Given the description of an element on the screen output the (x, y) to click on. 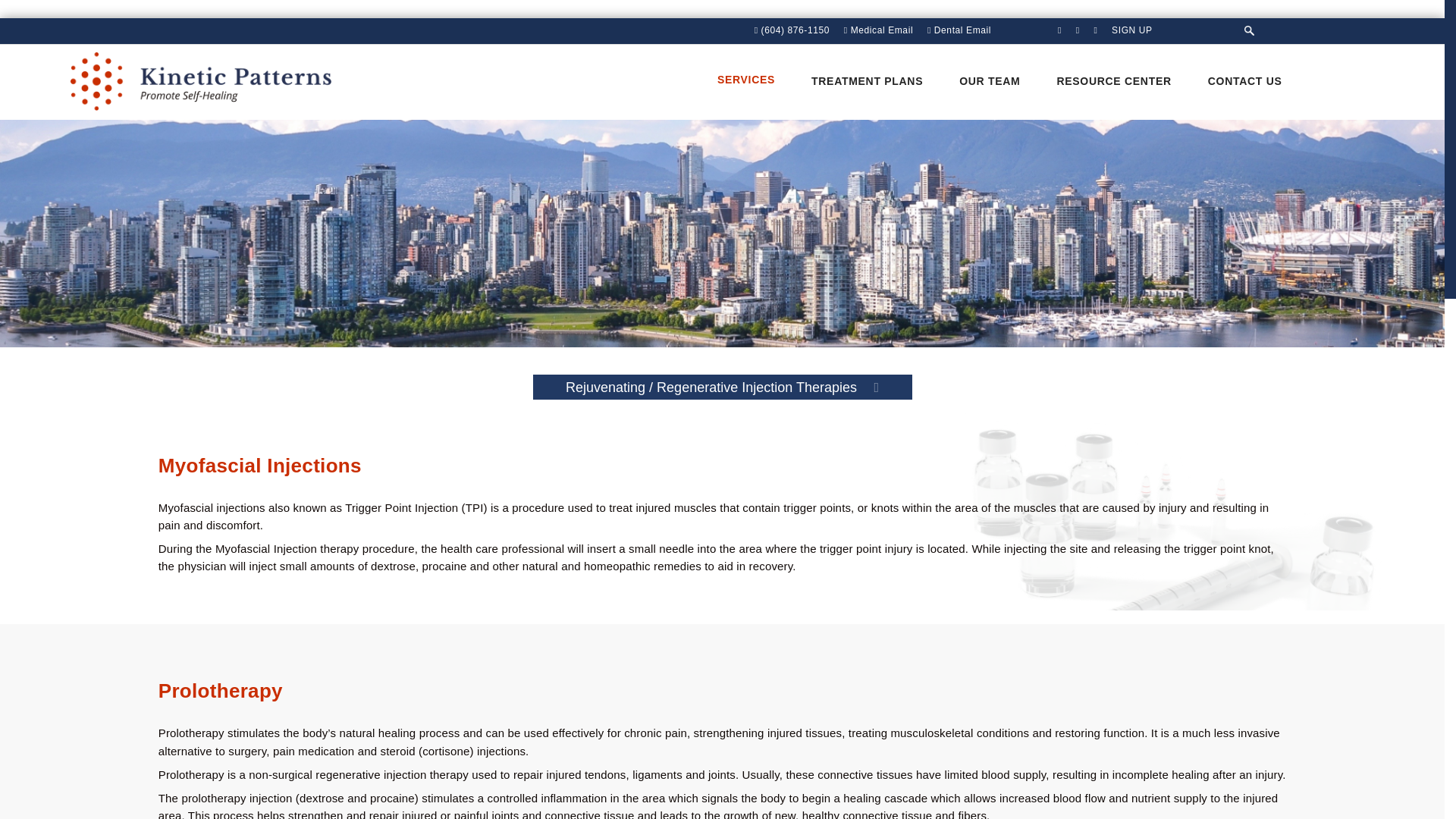
RESOURCE CENTER (1113, 80)
SIGN UP (1131, 30)
Medical Email (878, 30)
Medical Email (878, 30)
Dental Email (959, 30)
Dental Email (959, 30)
SIGN UP (1131, 30)
CONTACT US (1245, 80)
TREATMENT PLANS (866, 80)
